Given the description of an element on the screen output the (x, y) to click on. 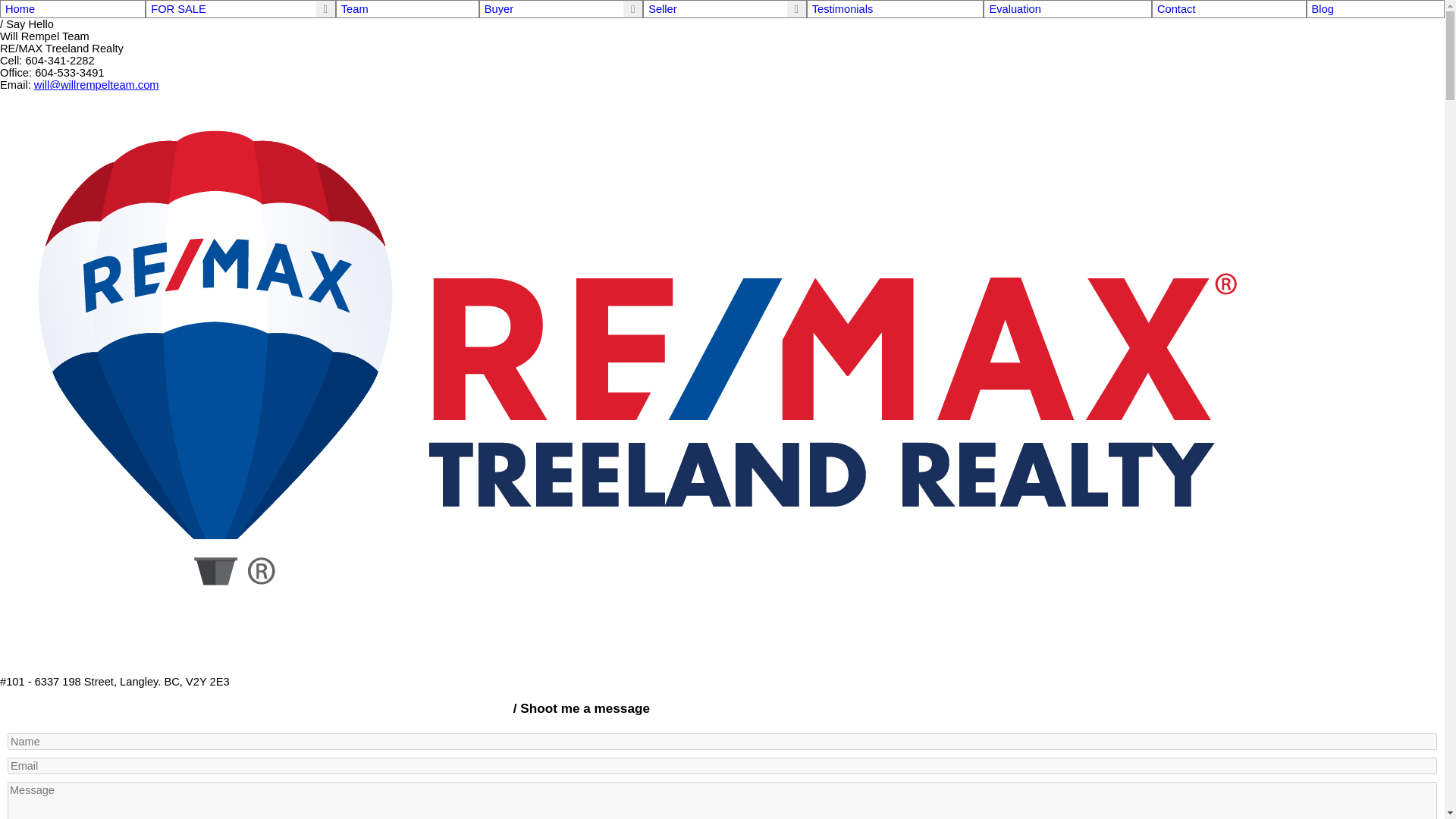
Contact (1229, 9)
Buyer (498, 9)
Blog (1375, 9)
FOR SALE (178, 9)
Home (72, 9)
Team (407, 9)
Seller (662, 9)
Testimonials (895, 9)
Evaluation (1067, 9)
